Given the description of an element on the screen output the (x, y) to click on. 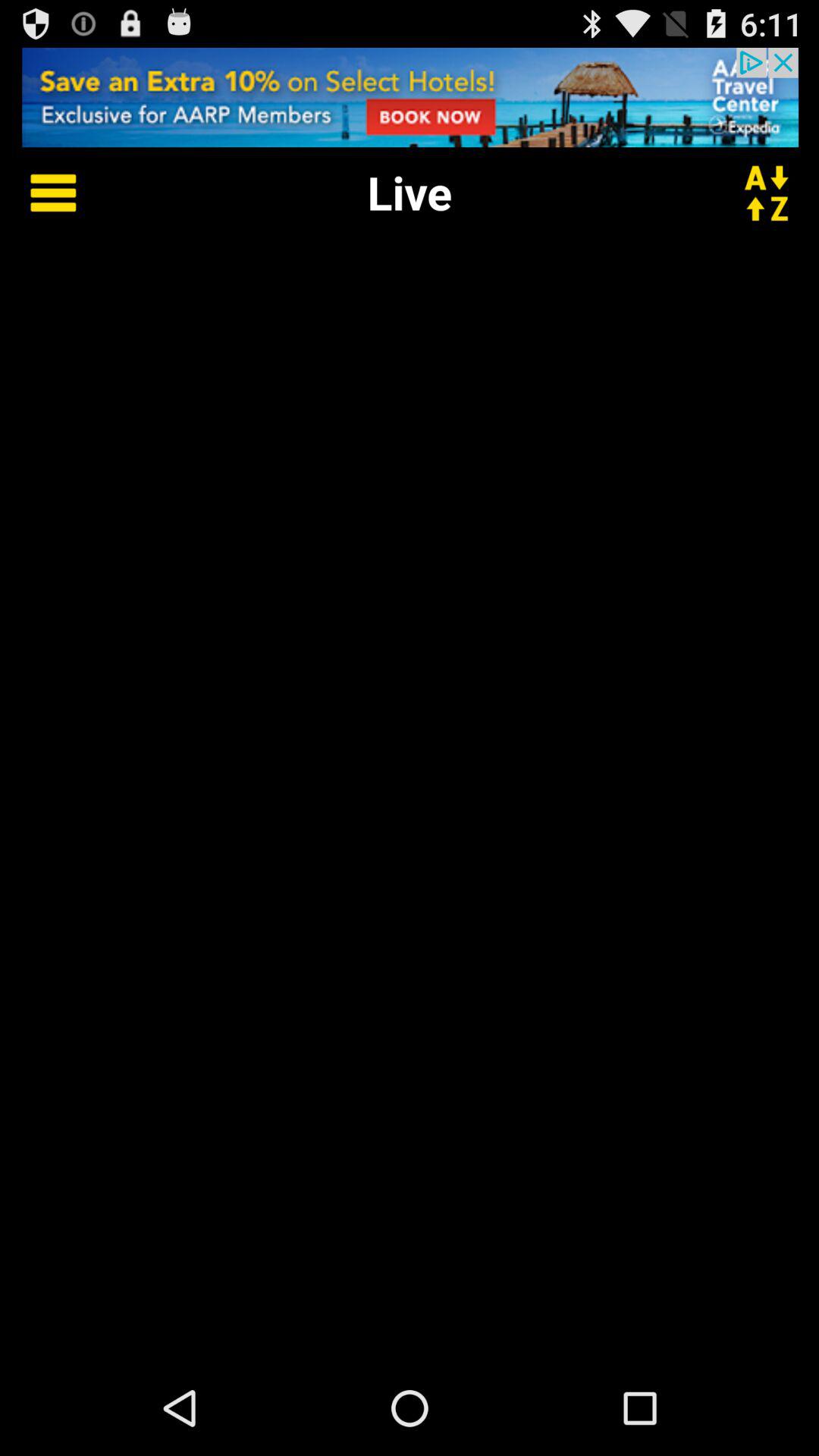
short by name (776, 192)
